Given the description of an element on the screen output the (x, y) to click on. 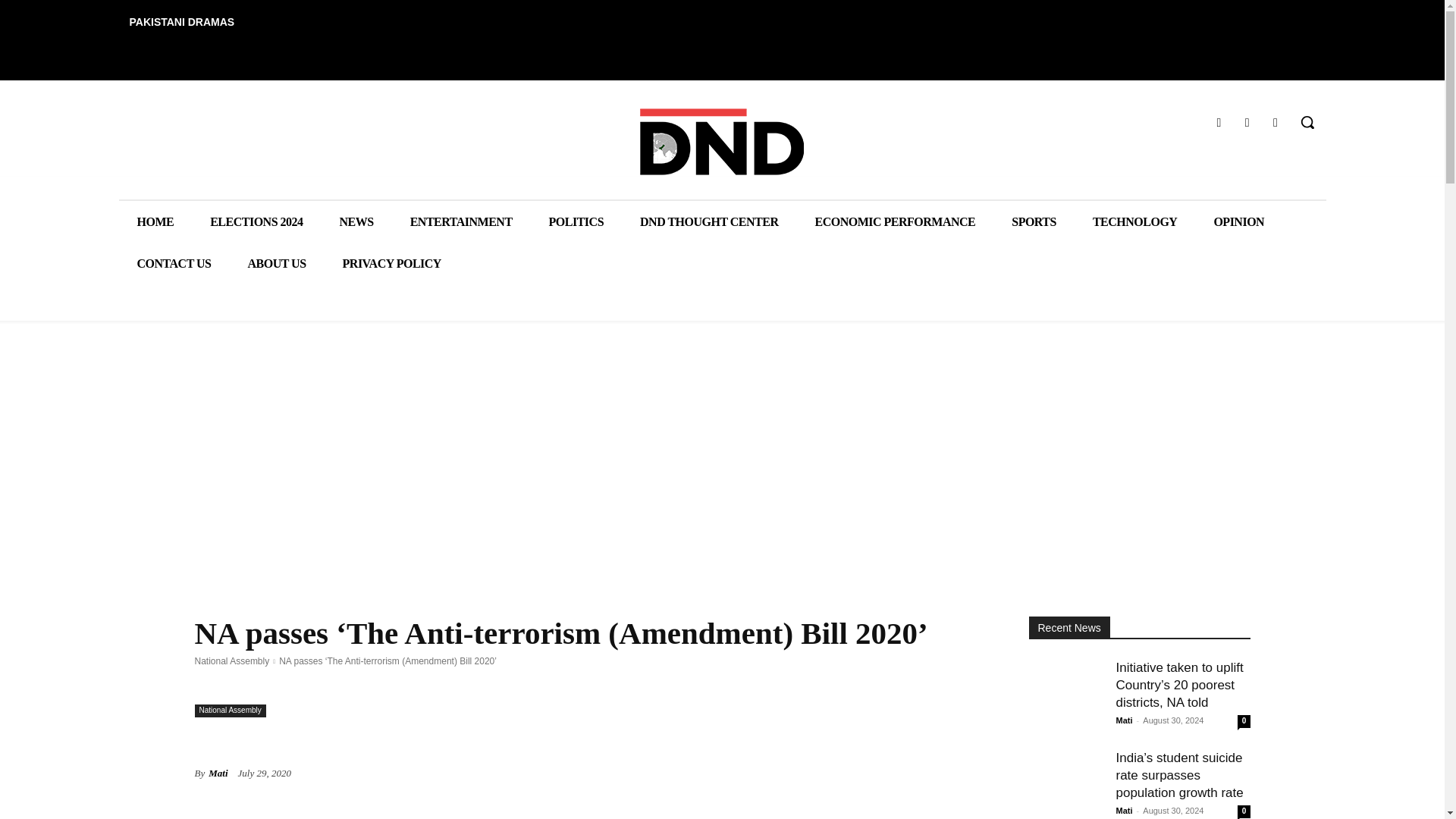
ABOUT US (275, 263)
PAKISTANI DRAMAS (180, 22)
Instagram (1246, 122)
OPINION (1238, 221)
SPORTS (1033, 221)
ELECTIONS 2024 (256, 221)
NEWS (356, 221)
ECONOMIC PERFORMANCE (894, 221)
View all posts in National Assembly (231, 661)
Twitter (1275, 122)
